Given the description of an element on the screen output the (x, y) to click on. 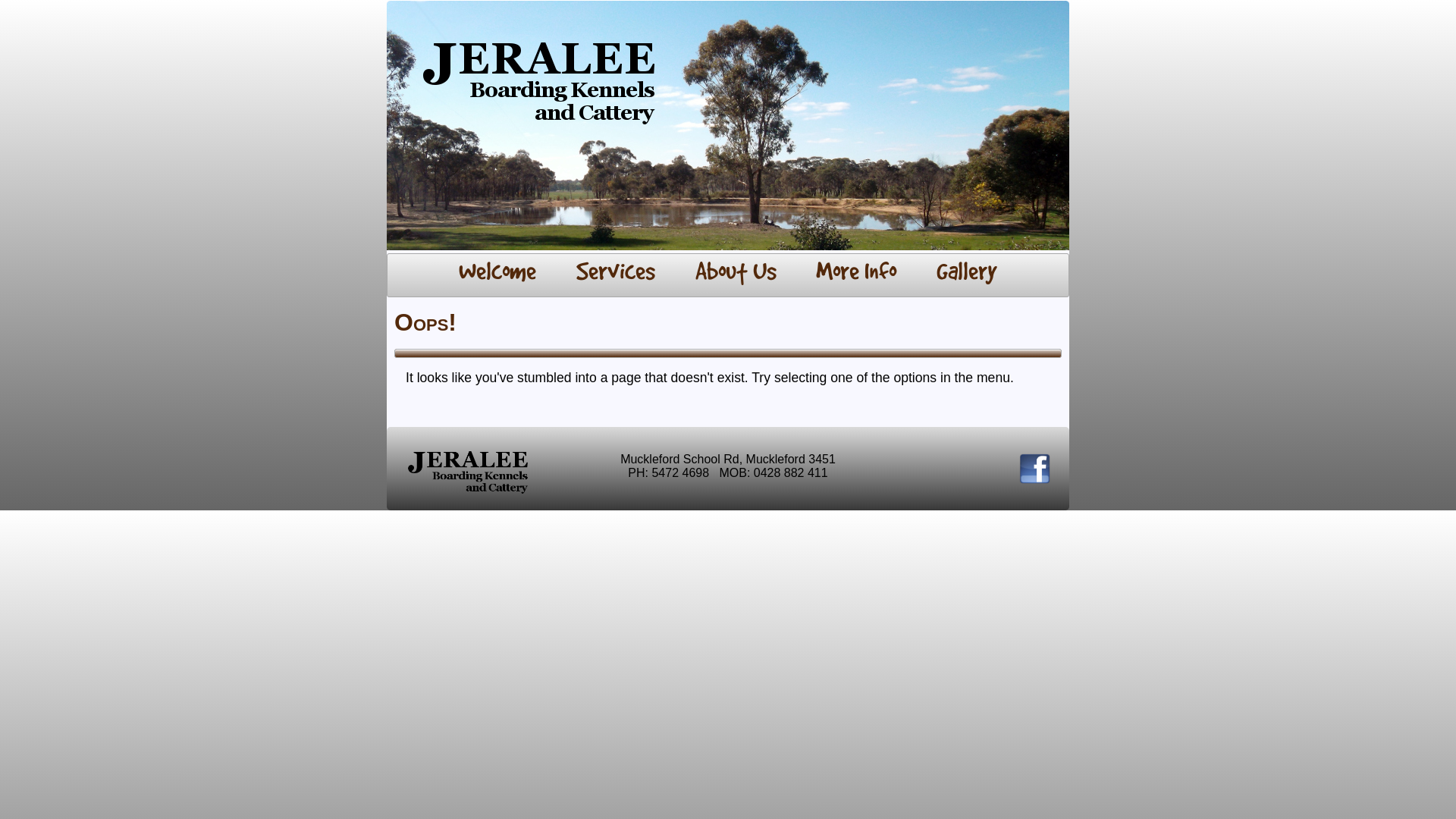
More Info Element type: text (856, 272)
Services Element type: text (615, 272)
Gallery Element type: text (966, 272)
Welcome Element type: text (497, 272)
Find us on Facebook Element type: hover (1034, 479)
About Us Element type: text (735, 272)
